Given the description of an element on the screen output the (x, y) to click on. 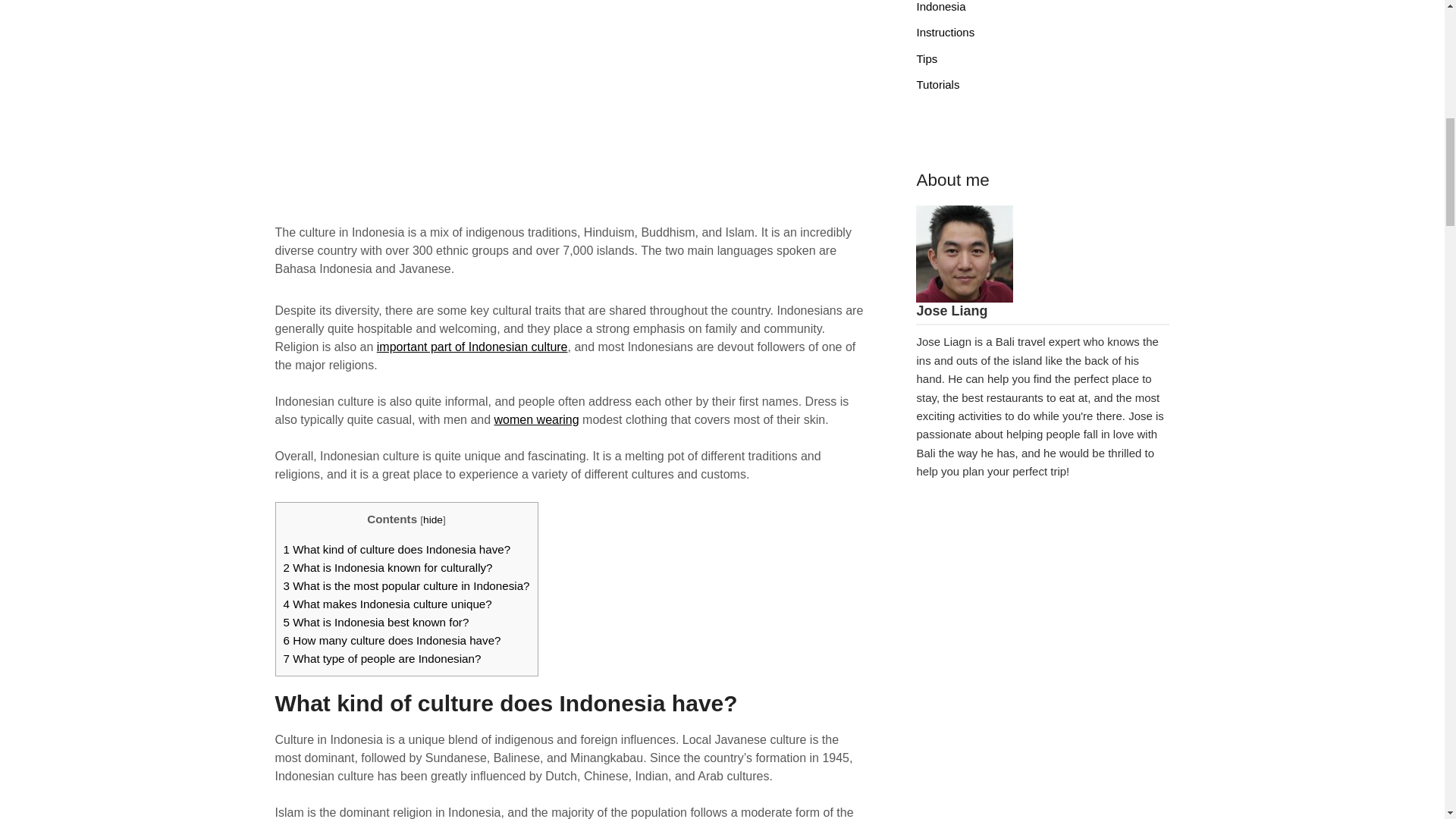
3 What is the most popular culture in Indonesia? (406, 585)
important part of Indonesian culture (472, 345)
1 What kind of culture does Indonesia have? (397, 549)
hide (432, 519)
7 What type of people are Indonesian? (382, 658)
women wearing (537, 418)
2 What is Indonesia known for culturally? (388, 567)
5 What is Indonesia best known for? (375, 621)
6 How many culture does Indonesia have? (391, 640)
4 What makes Indonesia culture unique? (387, 603)
